Given the description of an element on the screen output the (x, y) to click on. 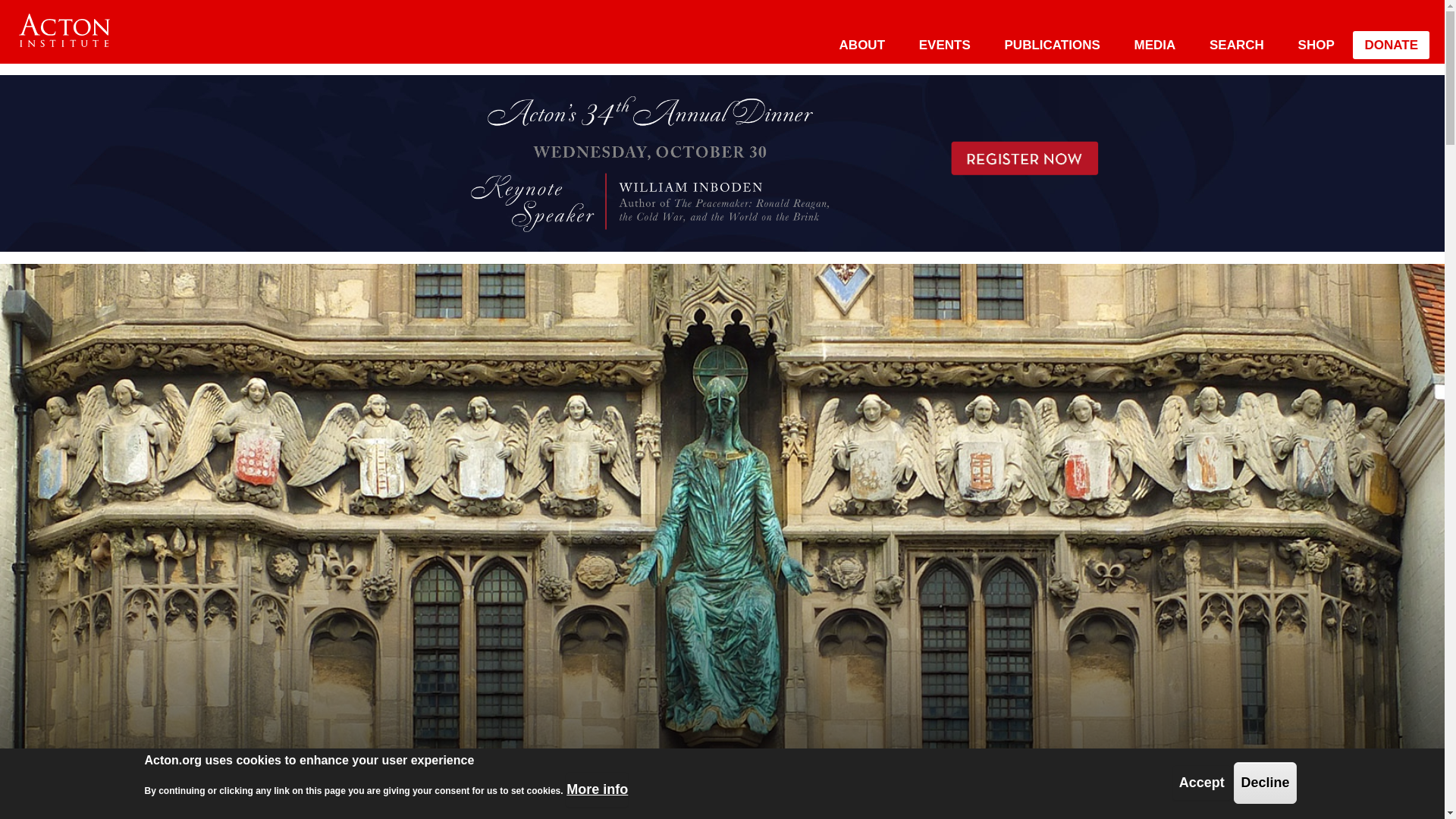
Events (944, 44)
ABOUT (861, 44)
MEDIA (1155, 44)
Publications (1052, 44)
PUBLICATIONS (1052, 44)
EVENTS (944, 44)
About (861, 44)
